Given the description of an element on the screen output the (x, y) to click on. 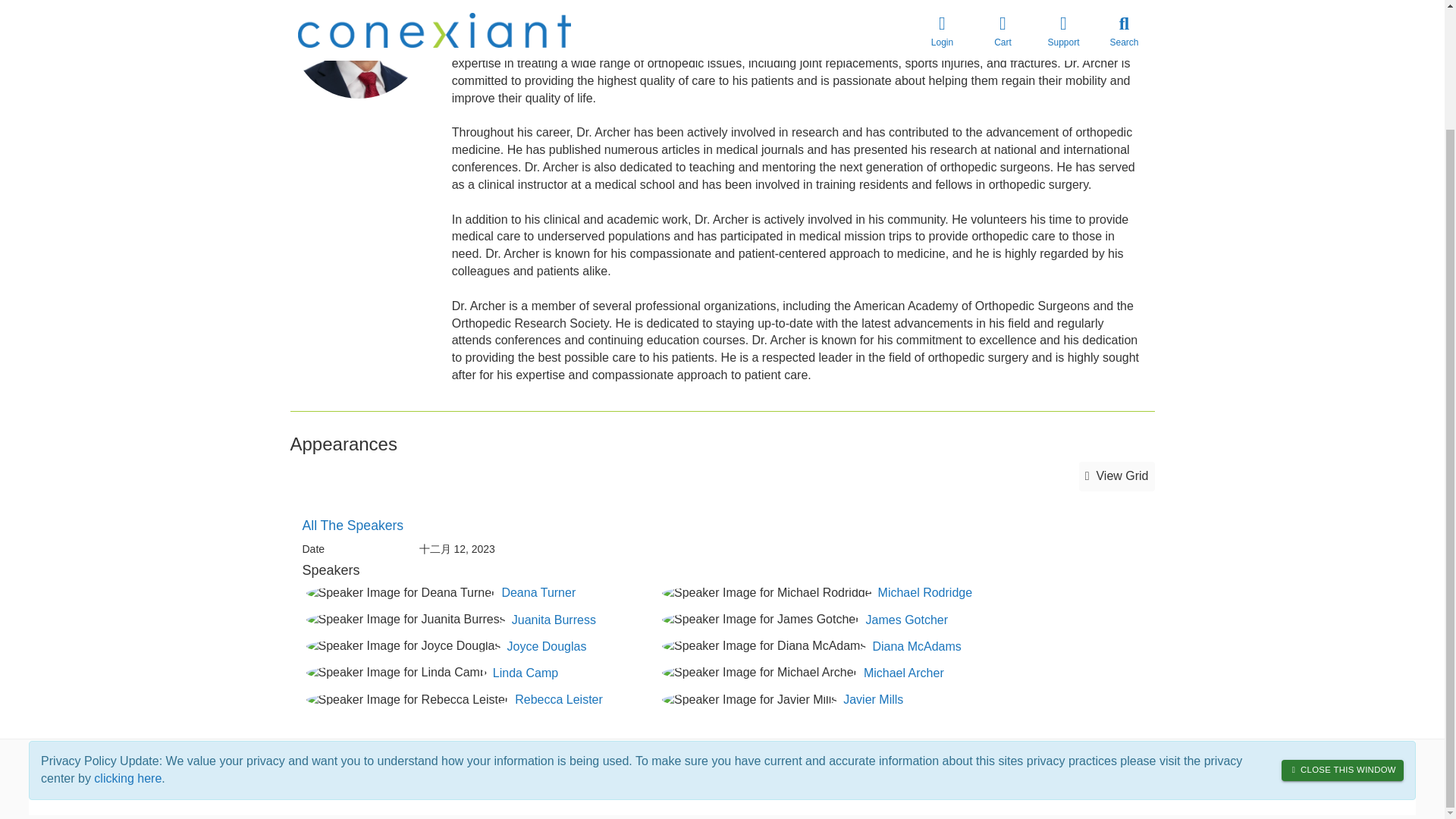
Michael Archer (903, 672)
James Gotcher (906, 619)
Speaker Image for Michael Archer (759, 672)
  View Grid (1116, 476)
Diana McAdams (916, 645)
All The Speakers (352, 525)
Rebecca Leister (558, 698)
clicking here (127, 634)
Speaker Image for Diana McAdams (764, 646)
Privacy Center (1120, 756)
